Given the description of an element on the screen output the (x, y) to click on. 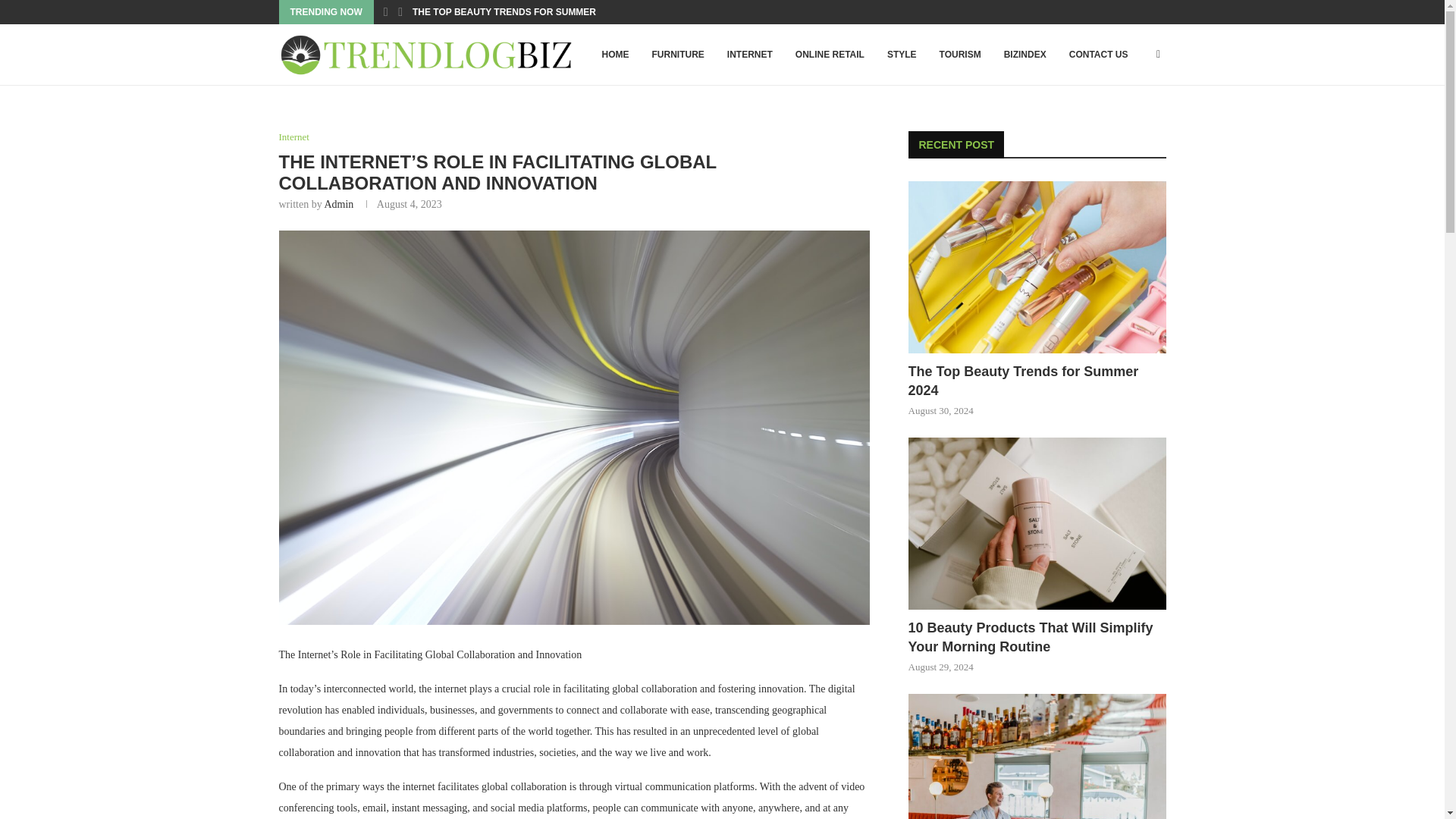
TOURISM (960, 54)
BIZINDEX (1025, 54)
CONTACT US (1099, 54)
ONLINE RETAIL (830, 54)
FURNITURE (677, 54)
Internet (293, 137)
INTERNET (750, 54)
The Top Beauty Trends for Summer 2024 (1037, 266)
THE TOP BEAUTY TRENDS FOR SUMMER 2024 (515, 12)
